Given the description of an element on the screen output the (x, y) to click on. 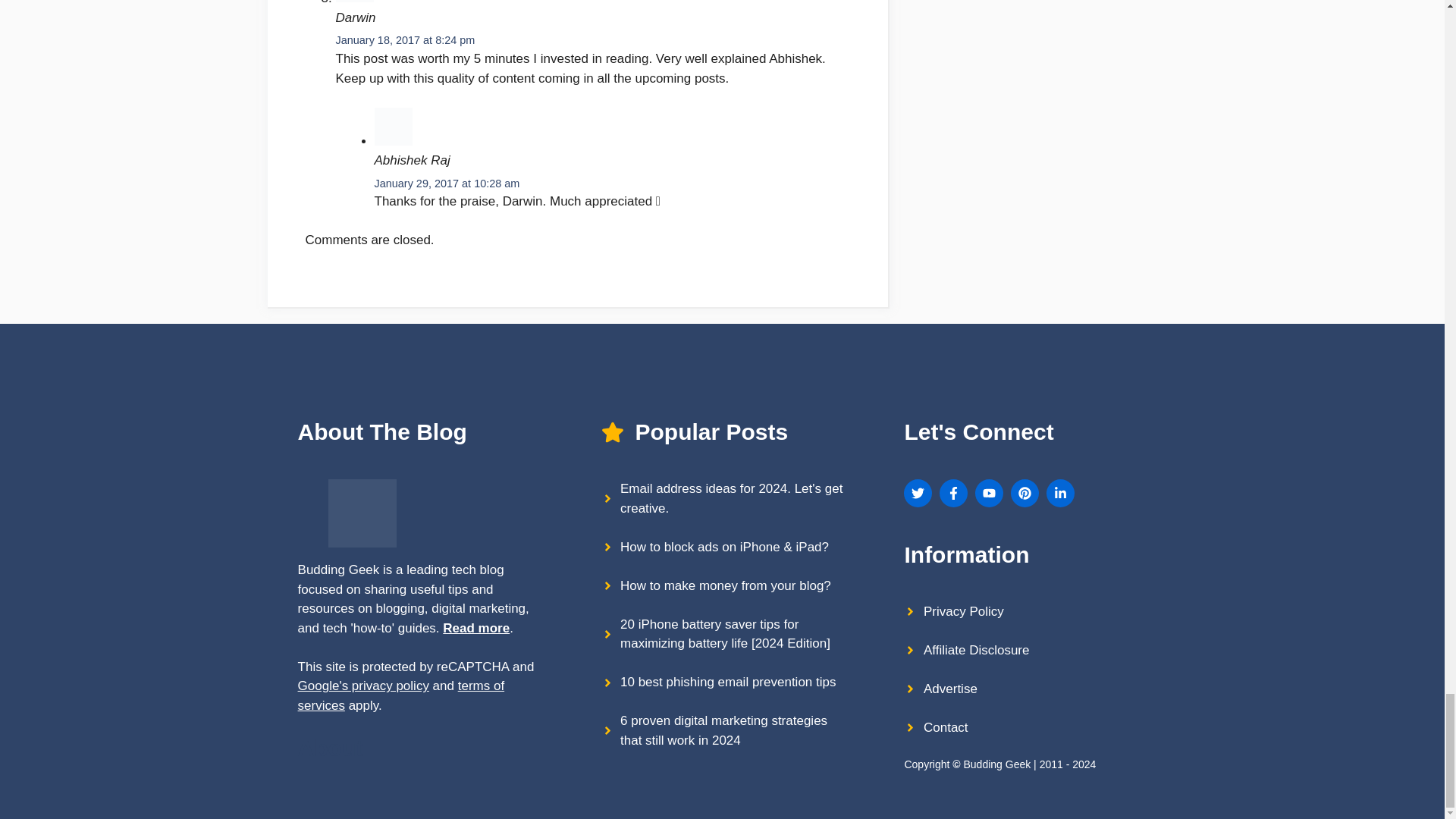
Read more (475, 627)
terms of services (401, 695)
January 29, 2017 at 10:28 am (446, 183)
January 18, 2017 at 8:24 pm (404, 39)
Google's privacy policy (363, 685)
